Given the description of an element on the screen output the (x, y) to click on. 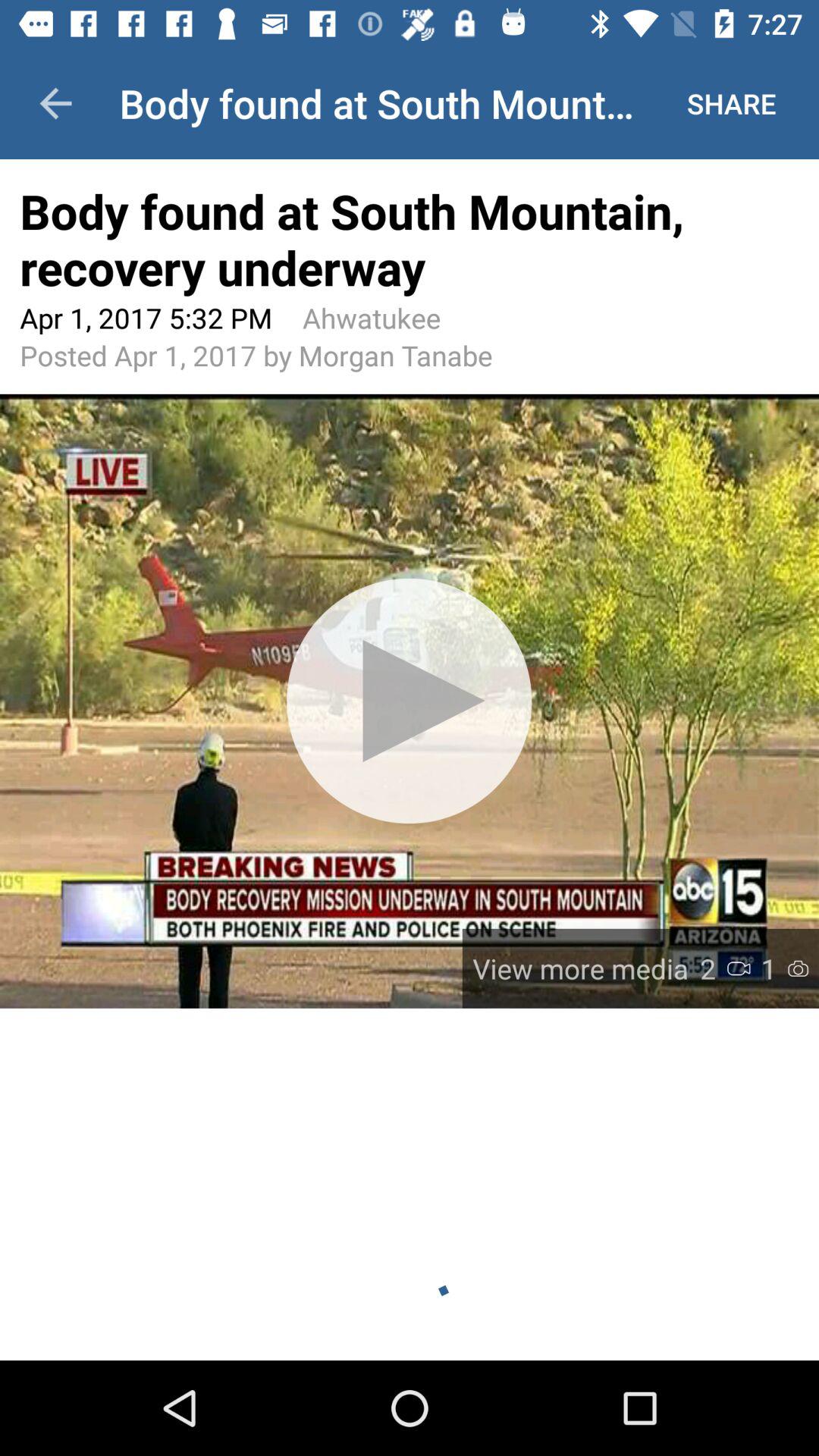
launch icon to the left of the body found at item (55, 103)
